Given the description of an element on the screen output the (x, y) to click on. 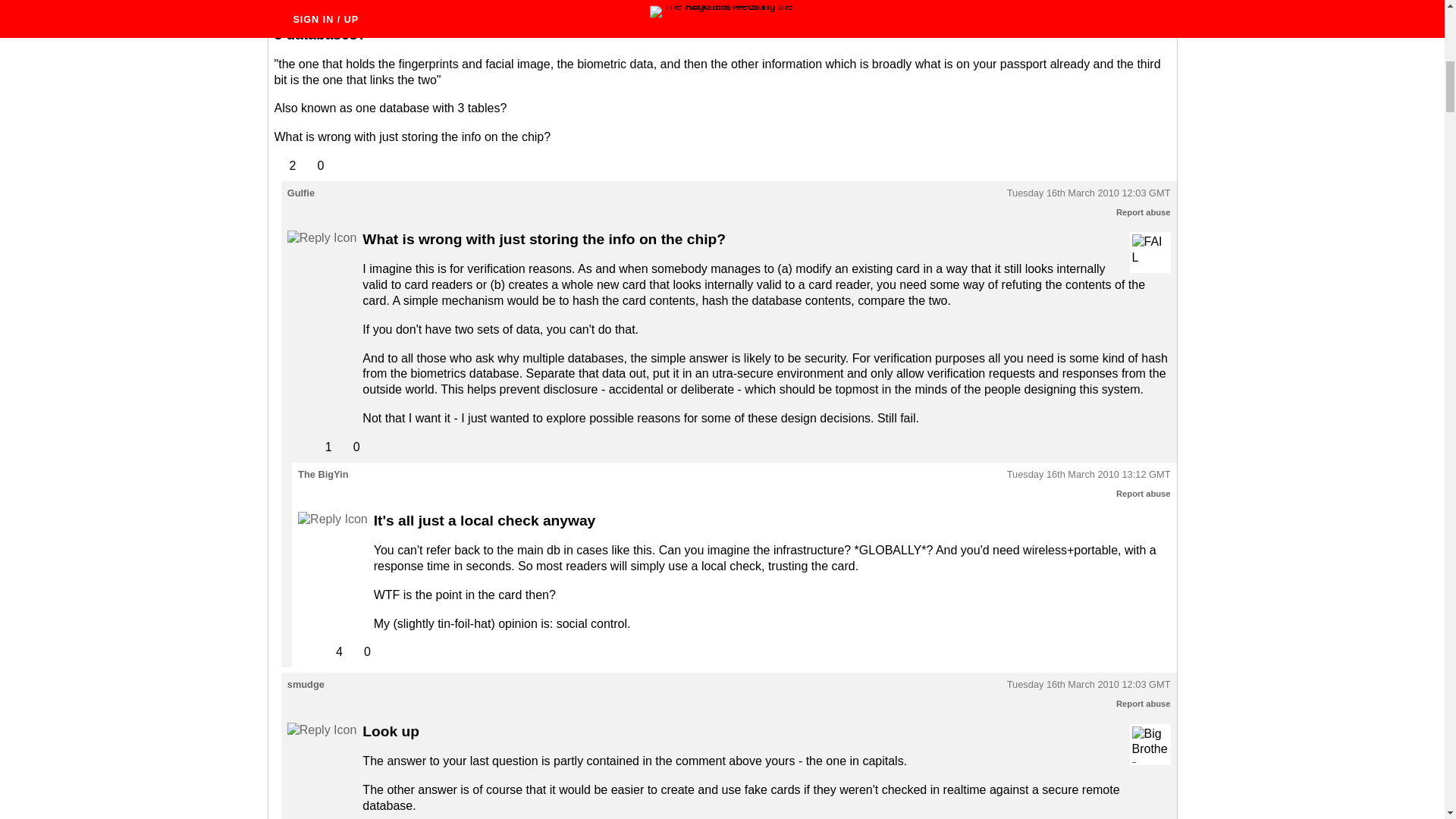
Report abuse (1143, 492)
Report abuse (1143, 6)
Report abuse (1143, 703)
Report abuse (1143, 212)
